Given the description of an element on the screen output the (x, y) to click on. 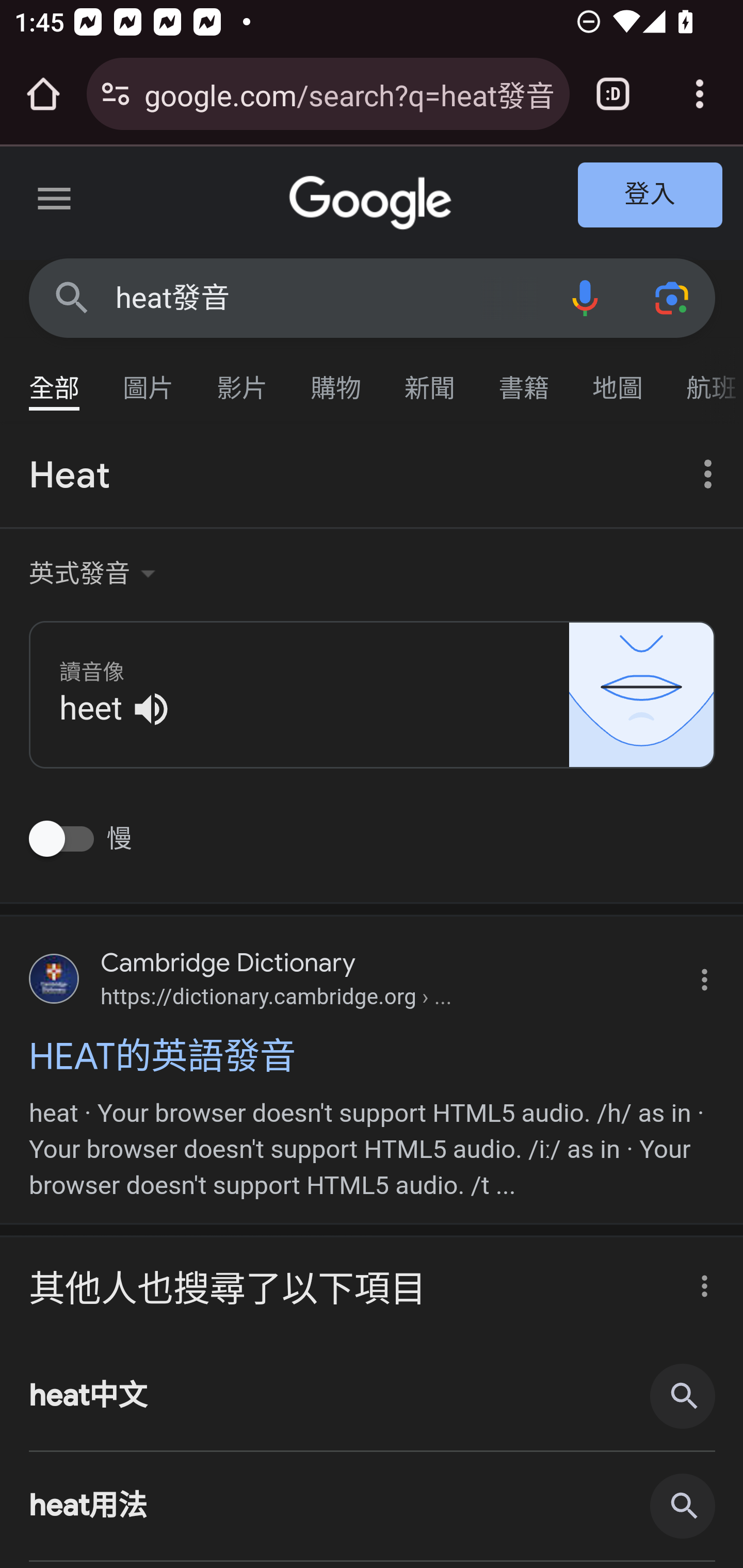
Open the home page (43, 93)
Connection is secure (115, 93)
Switch or close tabs (612, 93)
Customize and control Google Chrome (699, 93)
主選單 (54, 202)
Google (372, 203)
登入 (650, 195)
Google 搜尋 (71, 296)
使用相機或相片搜尋 (672, 296)
heat發音 (328, 297)
圖片 (148, 378)
影片 (242, 378)
購物 (336, 378)
新聞 (430, 378)
書籍 (524, 378)
地圖 (618, 378)
航班 (703, 378)
口音選取器 (94, 573)
學習讀音 (372, 693)
慢 (65, 840)
HEAT的英語發音 (372, 1055)
關於此結果 (698, 1279)
heat中文 (372, 1395)
heat用法 (372, 1506)
